Given the description of an element on the screen output the (x, y) to click on. 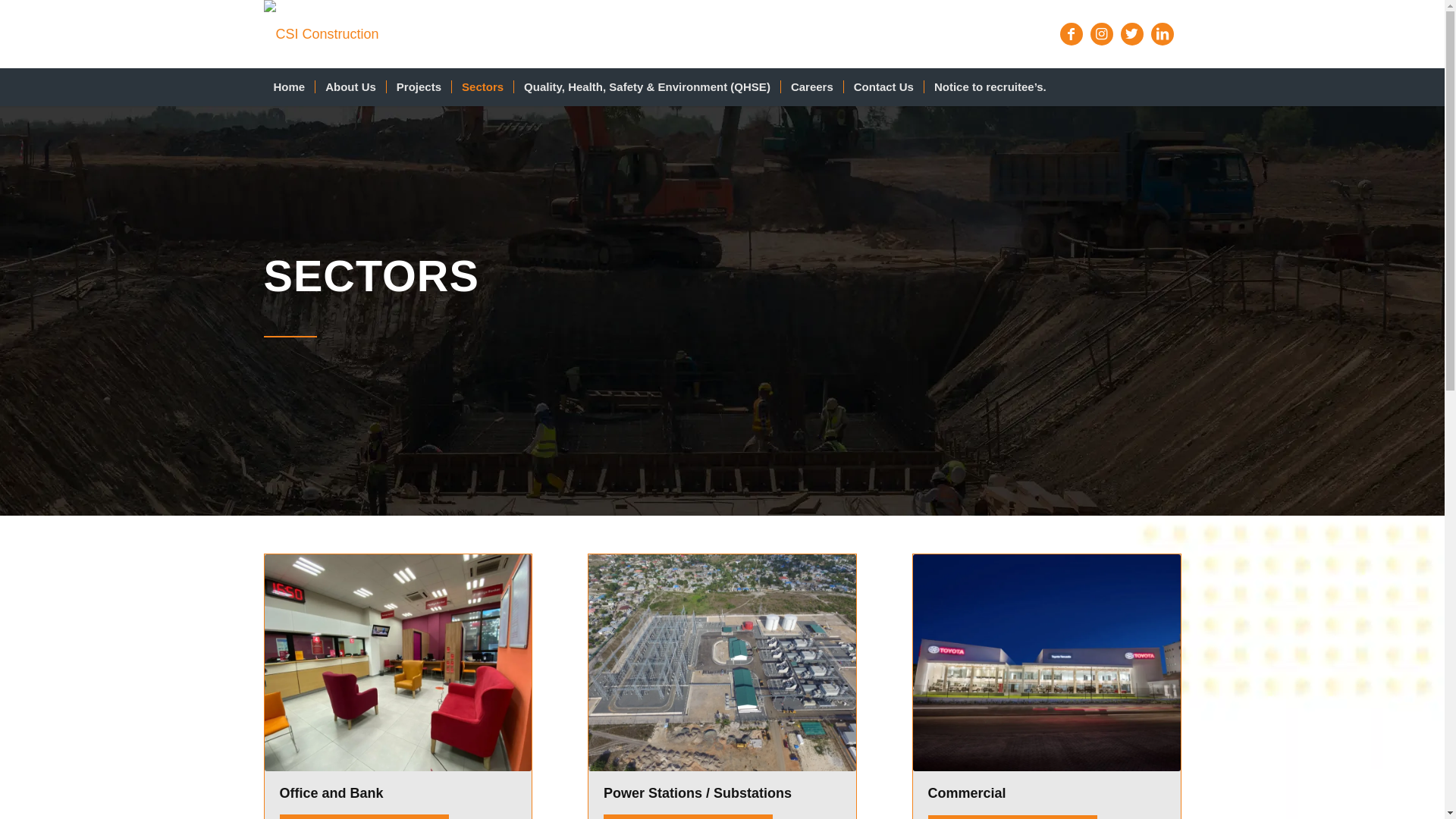
IMG-20200430-WA0089-1024x768 Element type: hover (397, 662)
Sectors Element type: text (482, 87)
Instagram Element type: hover (1101, 33)
Projects Element type: text (418, 87)
Twitter Element type: hover (1131, 33)
Careers Element type: text (811, 87)
Facebook Element type: hover (1071, 33)
Contact Us Element type: text (883, 87)
Kinyerezi 150 MW Element type: hover (722, 662)
Quality, Health, Safety & Environment (QHSE) Element type: text (646, 87)
LinkedIn Element type: hover (1162, 33)
Toyota Showroom Element type: hover (1046, 662)
Home Element type: text (289, 87)
About Us Element type: text (349, 87)
